Given the description of an element on the screen output the (x, y) to click on. 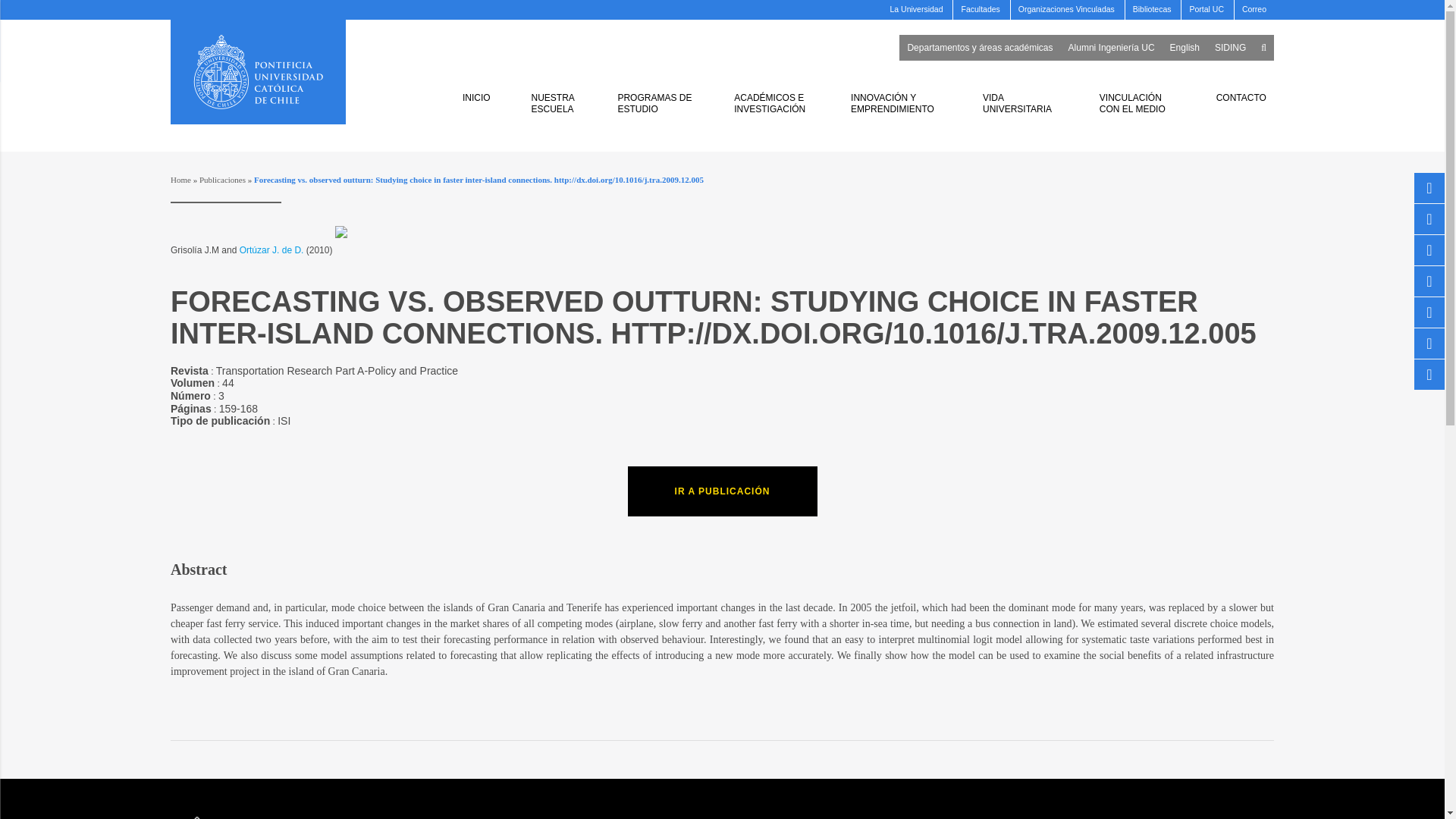
La Universidad (916, 6)
Facultades (979, 6)
